Given the description of an element on the screen output the (x, y) to click on. 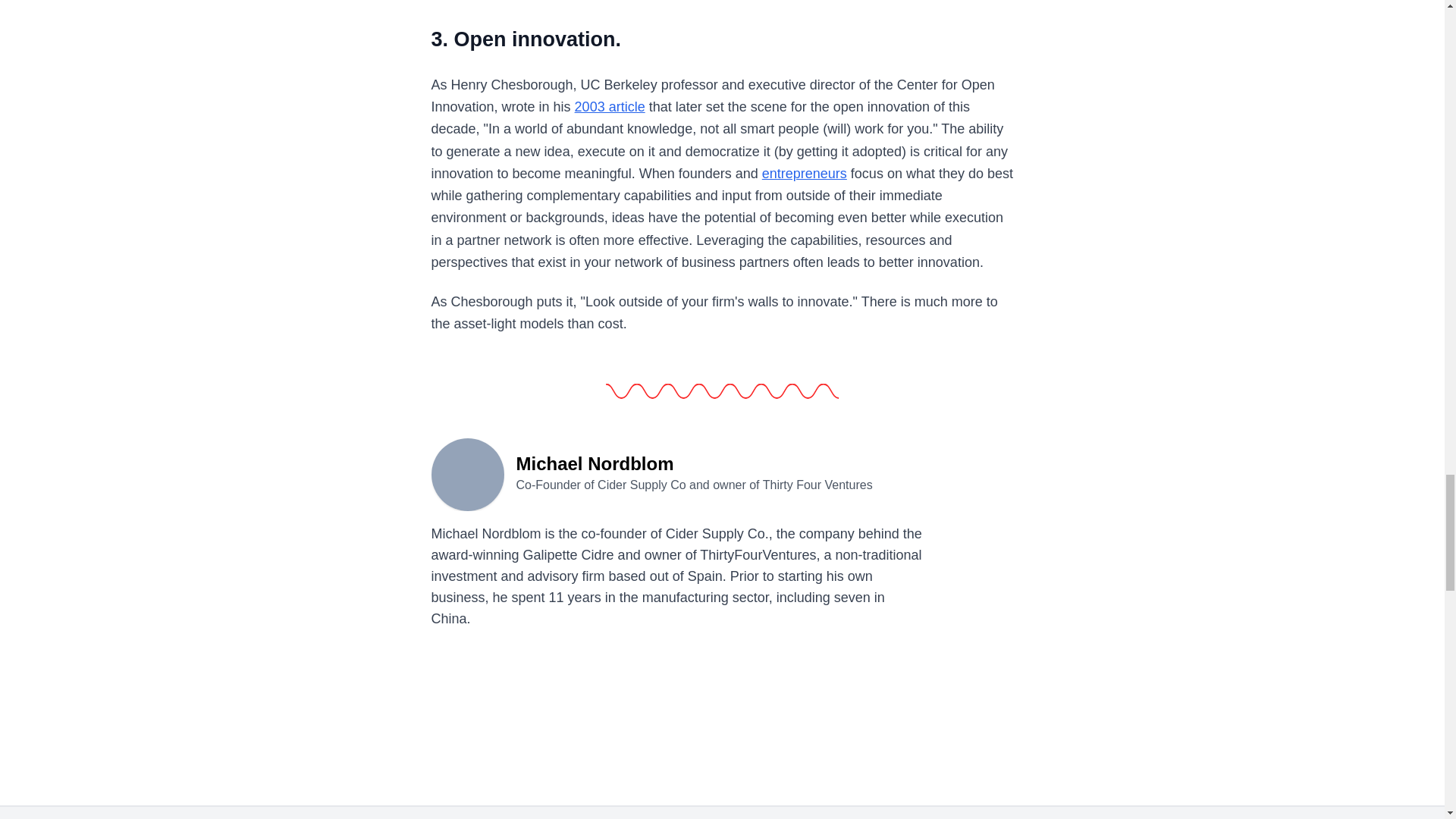
Michael Nordblom (466, 472)
